Given the description of an element on the screen output the (x, y) to click on. 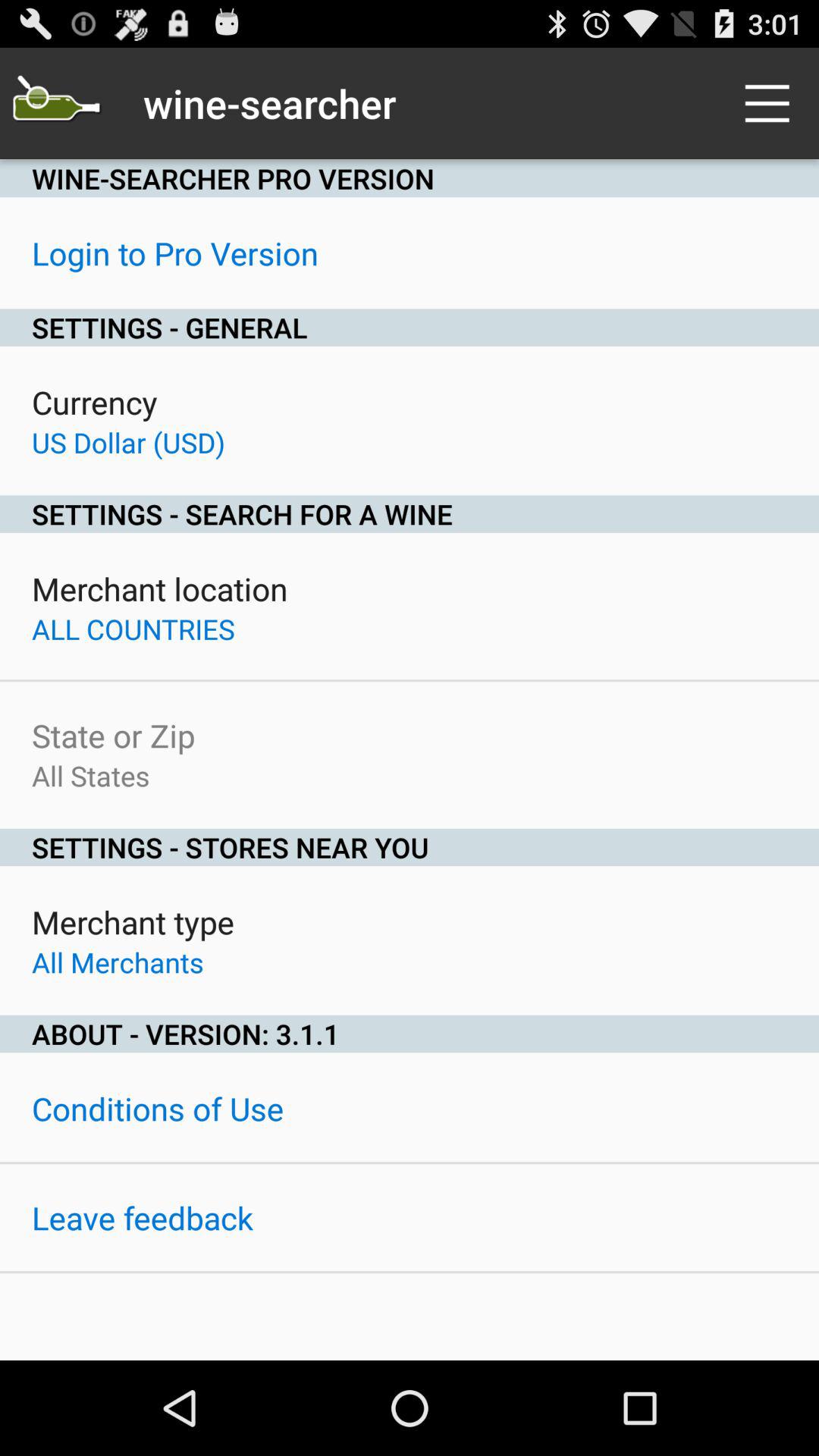
launch all countries item (132, 628)
